Given the description of an element on the screen output the (x, y) to click on. 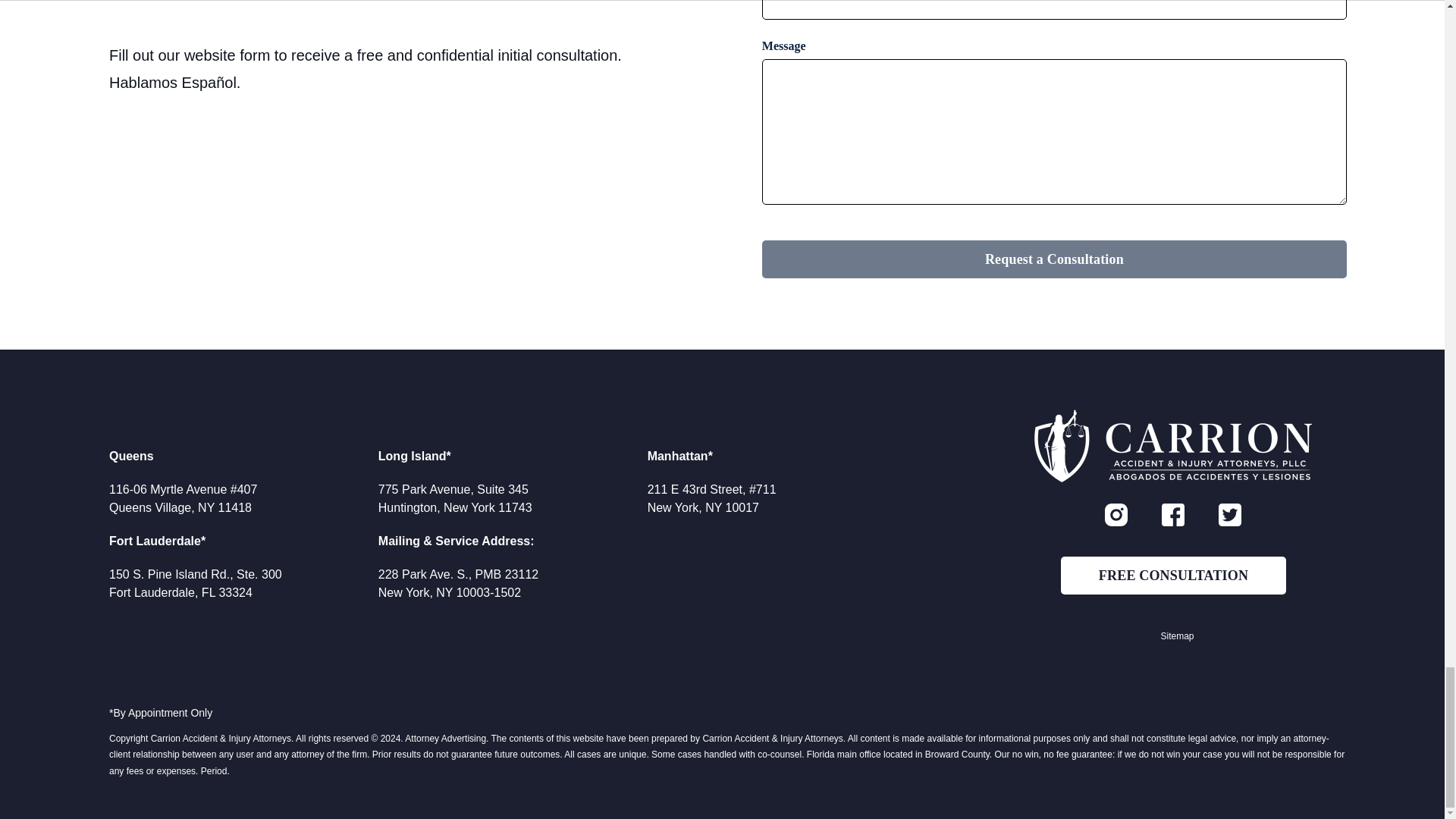
Request a Consultation (1053, 259)
